Given the description of an element on the screen output the (x, y) to click on. 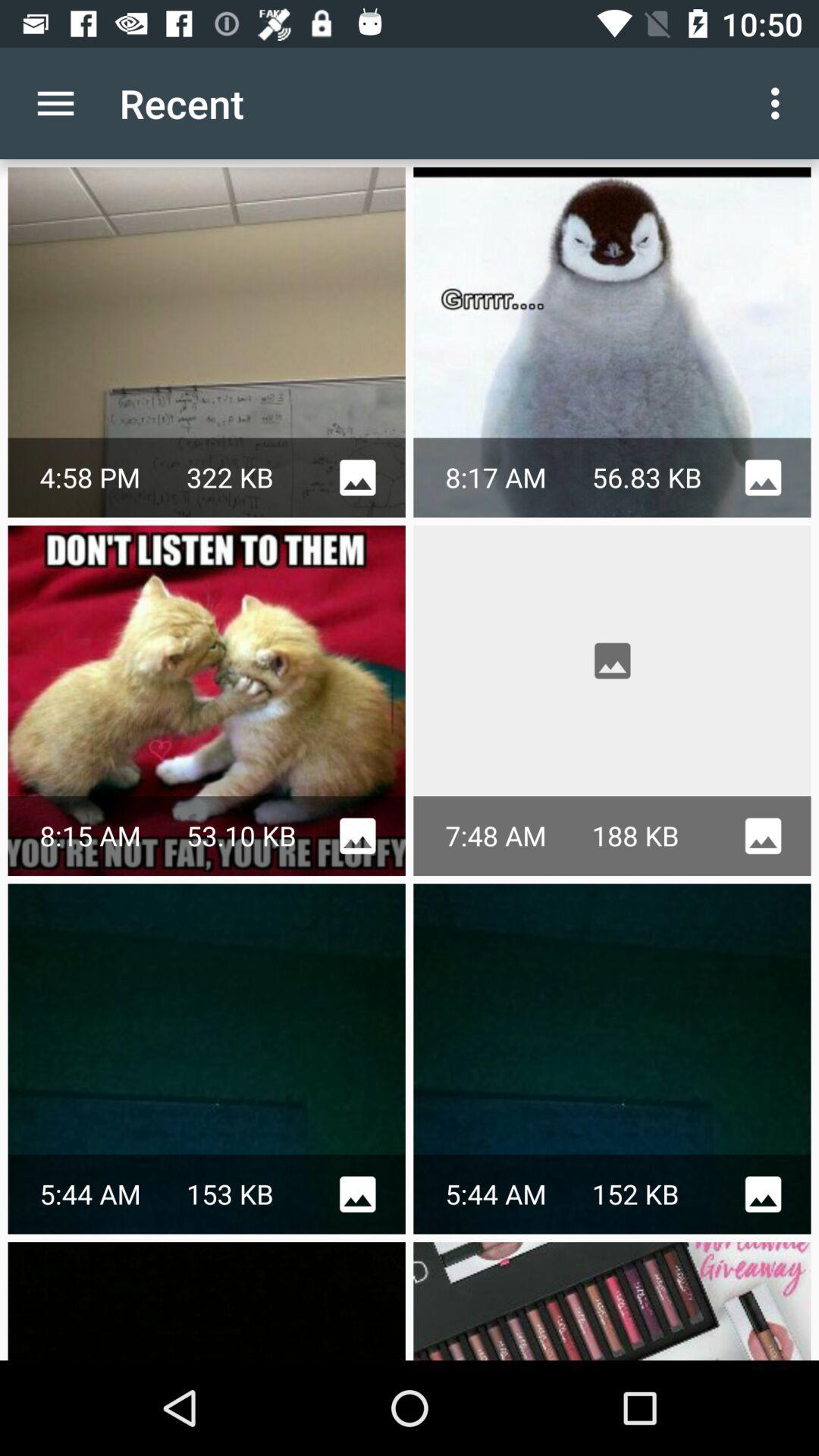
choose the app to the left of the recent item (55, 103)
